Given the description of an element on the screen output the (x, y) to click on. 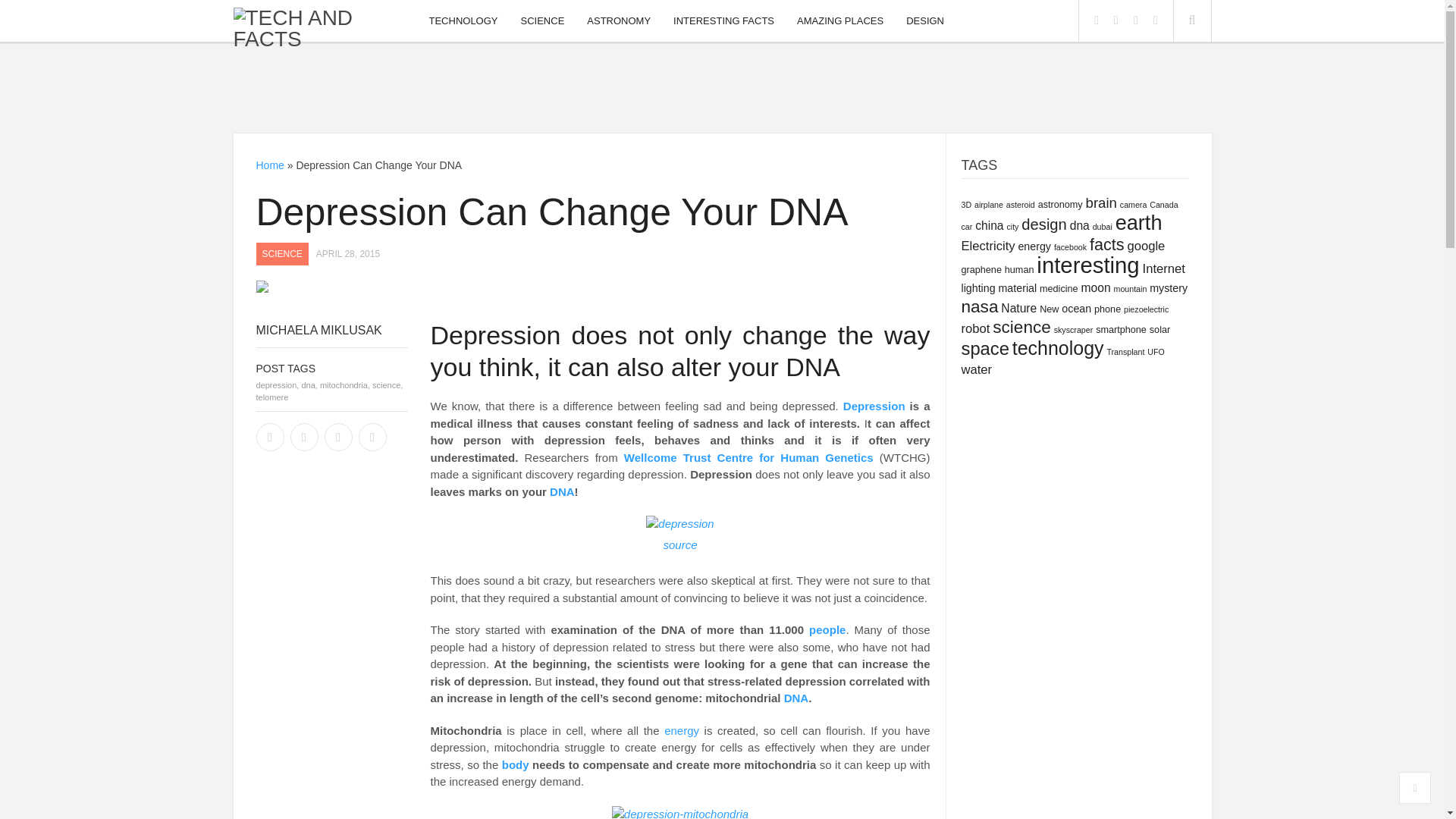
earth (1138, 222)
airplane (988, 204)
china (989, 225)
brain (1101, 202)
Posts by Michaela Miklusak (318, 329)
car (966, 225)
INTERESTING FACTS (723, 20)
energy (1034, 246)
TECHNOLOGY (463, 20)
design (1044, 224)
